Given the description of an element on the screen output the (x, y) to click on. 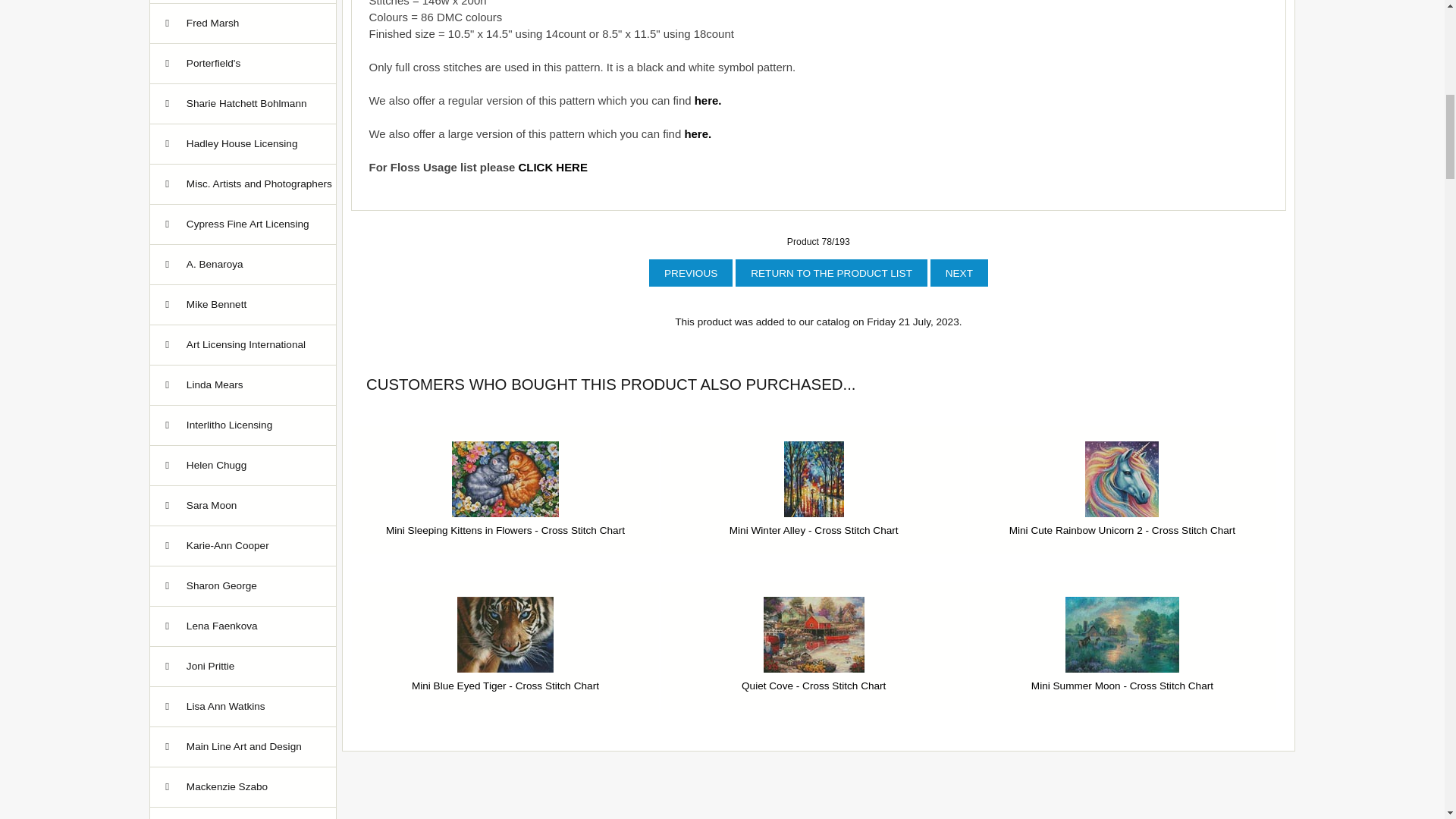
Quiet Cove - Cross Stitch Chart (813, 634)
Mini Summer Moon - Cross Stitch Chart (1122, 634)
Mini Sleeping Kittens in Flowers - Cross Stitch Chart (505, 478)
Mini Cute Rainbow Unicorn 2 - Cross Stitch Chart (1121, 478)
Mini Blue Eyed Tiger - Cross Stitch Chart (505, 634)
